Given the description of an element on the screen output the (x, y) to click on. 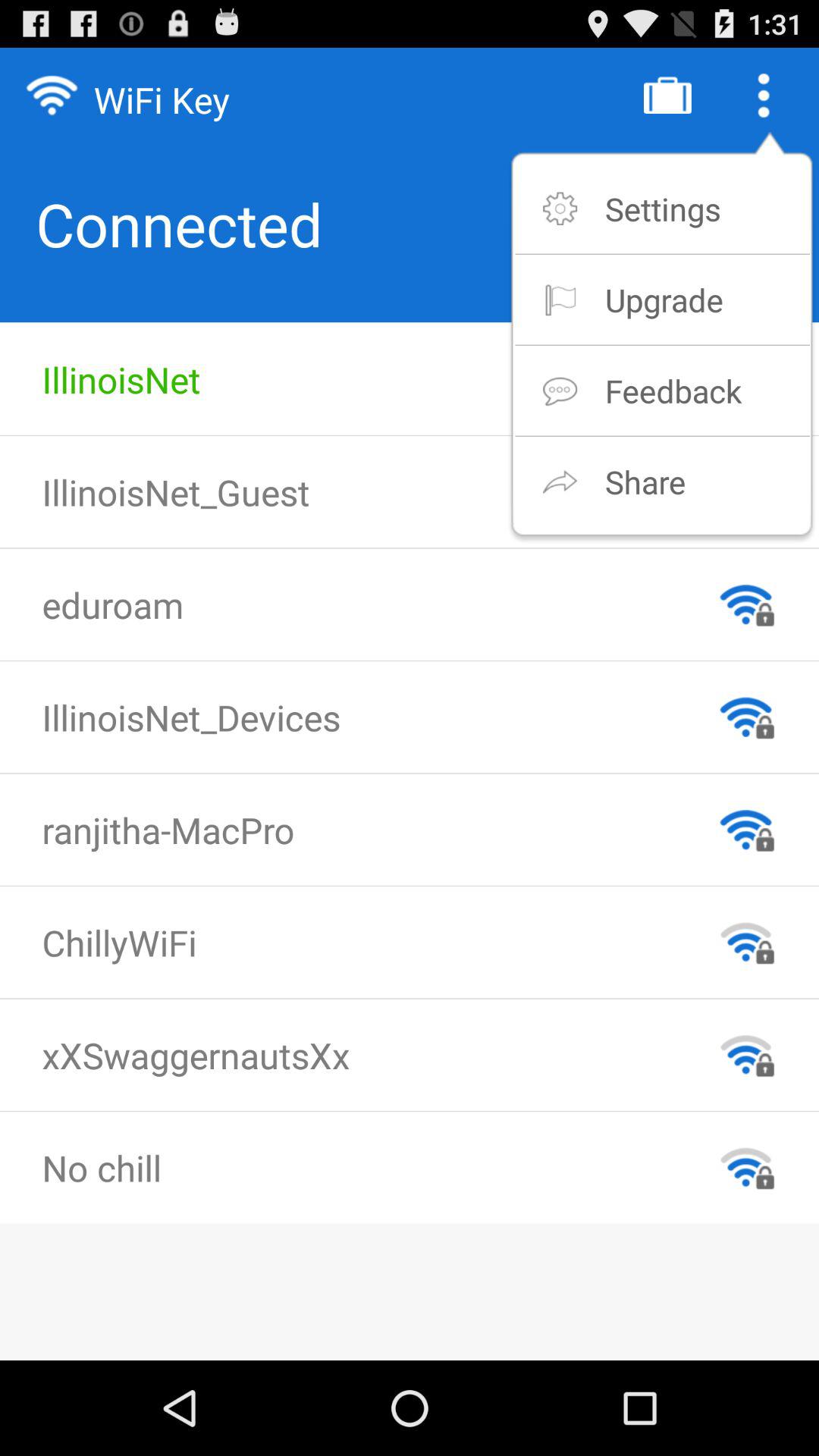
swipe until the upgrade item (664, 299)
